Given the description of an element on the screen output the (x, y) to click on. 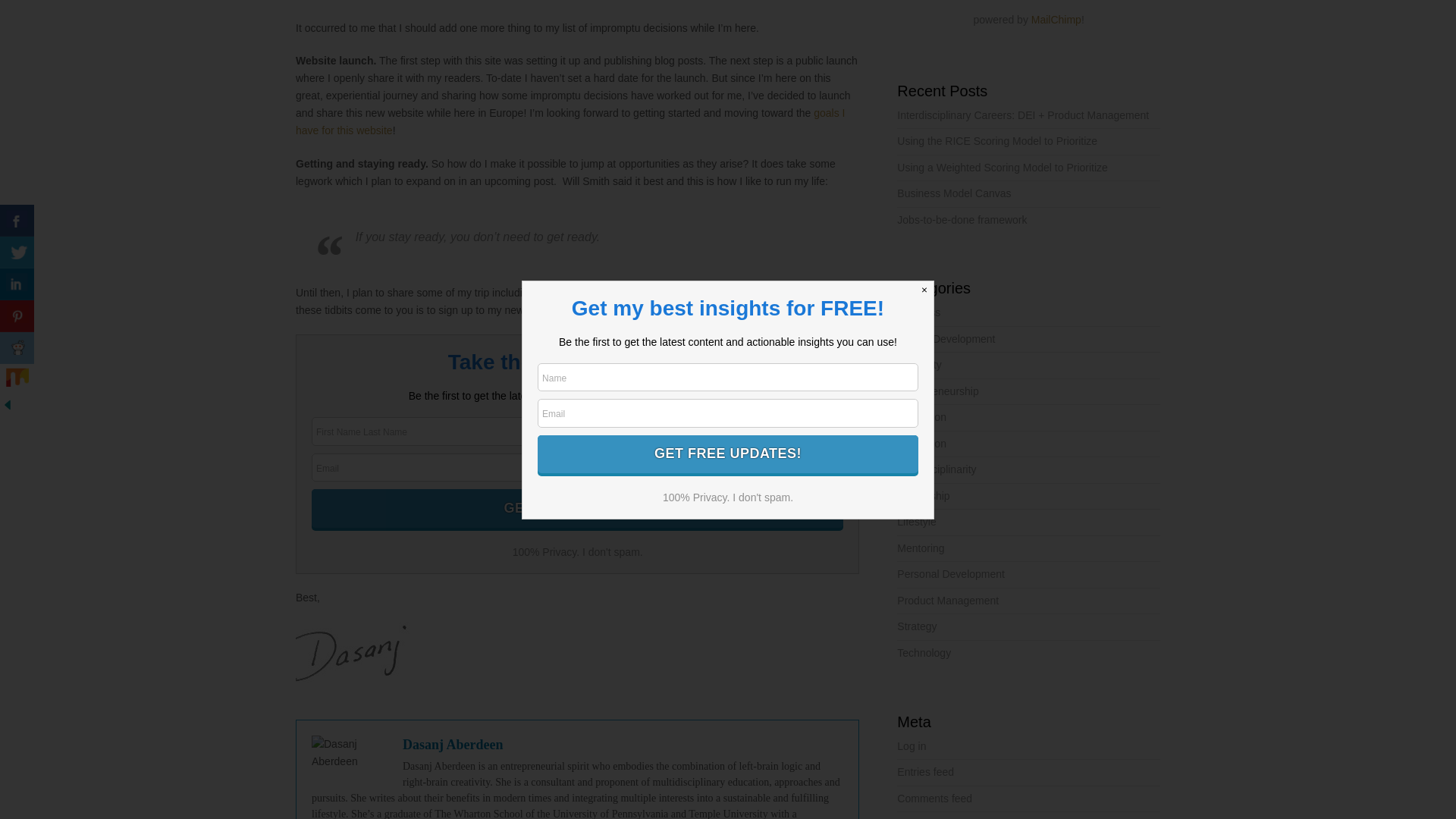
Get FREE Updates! (577, 507)
